Given the description of an element on the screen output the (x, y) to click on. 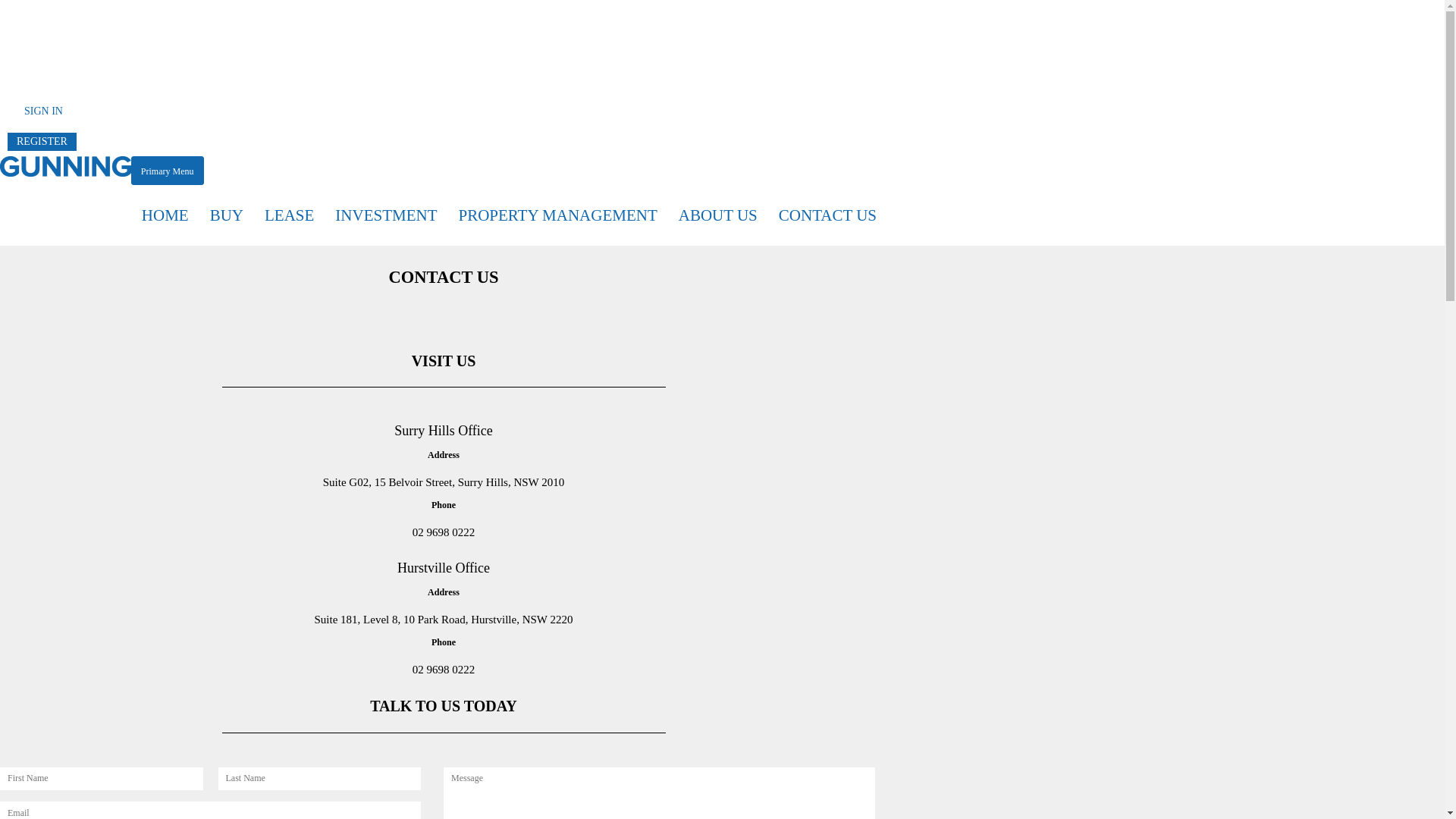
02 9698 0222 Element type: text (443, 669)
HOME Element type: text (165, 215)
02 9698 0222 Element type: text (443, 532)
SIGN IN Element type: text (43, 111)
REGISTER Element type: text (41, 141)
CONTACT US Element type: text (827, 215)
BUY Element type: text (226, 215)
LEASE Element type: text (289, 215)
Primary Menu Element type: text (167, 170)
INVESTMENT Element type: text (385, 215)
PROPERTY MANAGEMENT Element type: text (558, 215)
ABOUT US Element type: text (718, 215)
